Given the description of an element on the screen output the (x, y) to click on. 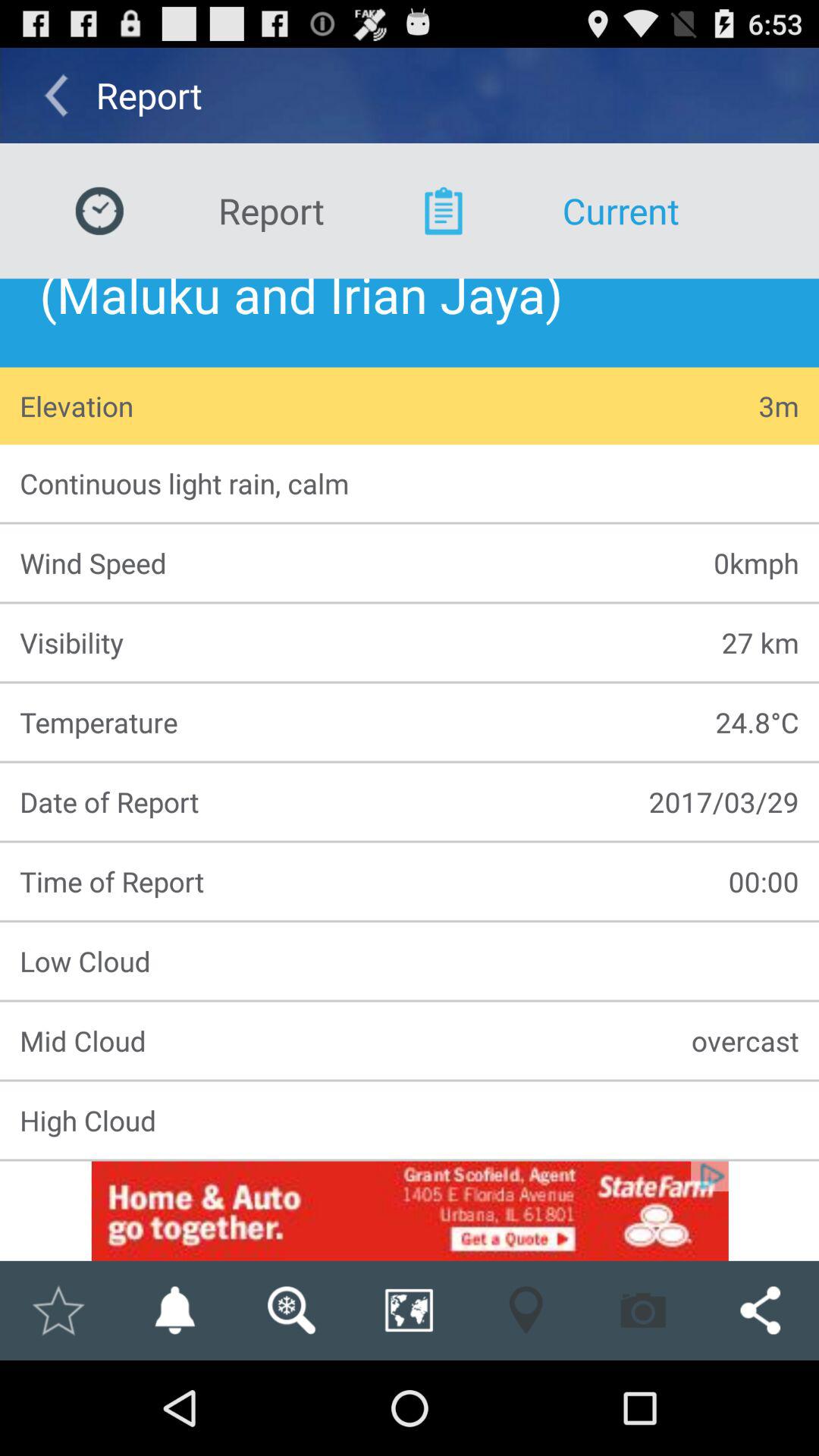
subscribe the option (174, 1310)
